Given the description of an element on the screen output the (x, y) to click on. 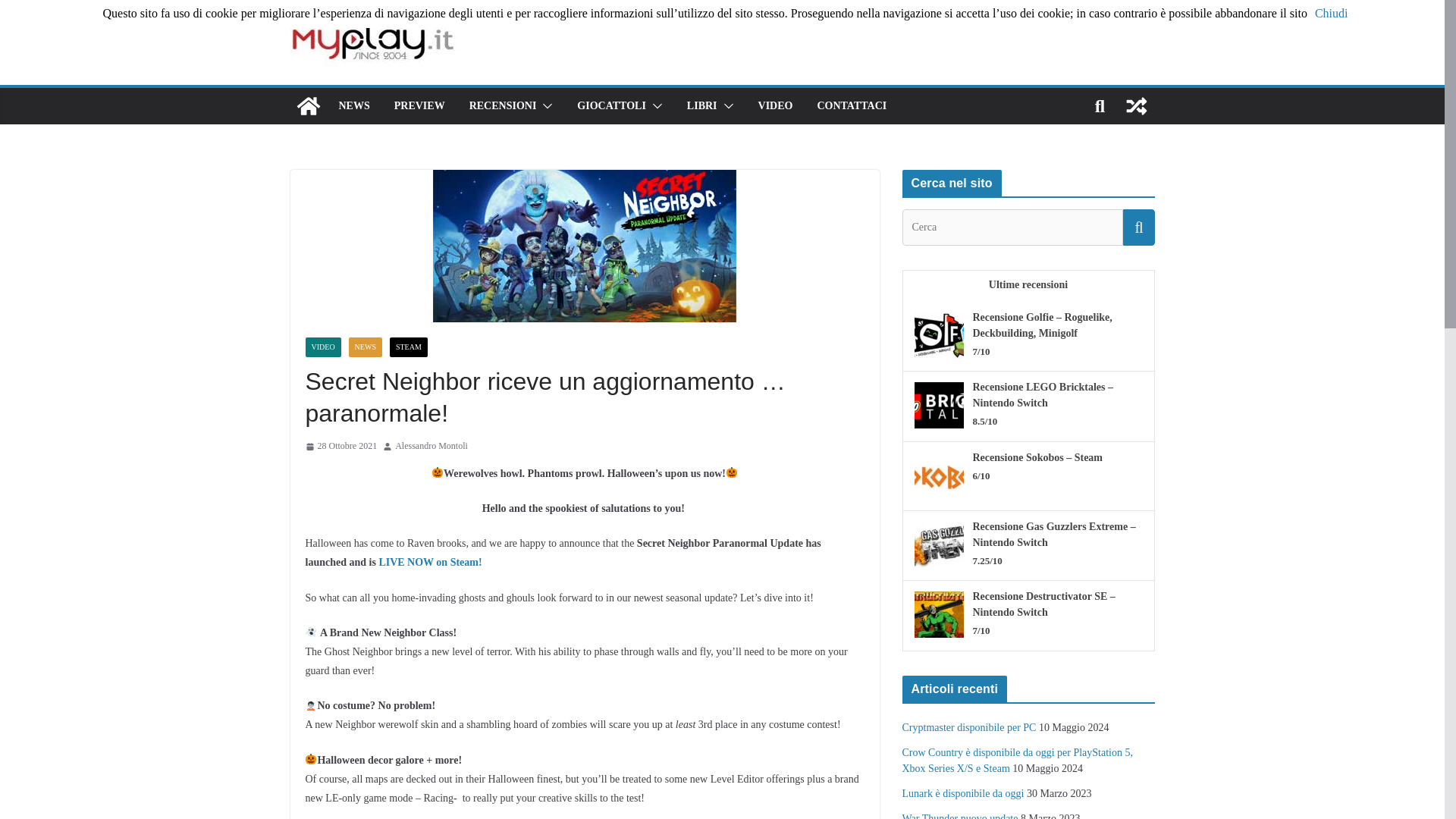
PREVIEW (419, 106)
LIBRI (702, 106)
NEWS (353, 106)
Alessandro Montoli (430, 446)
VIDEO (775, 106)
VIDEO (322, 347)
28 Ottobre 2021 (340, 446)
LIVE NOW on Steam! (429, 562)
Leggi un articolo casuale (1136, 105)
11:14 (340, 446)
Alessandro Montoli (430, 446)
GIOCATTOLI (611, 106)
STEAM (409, 347)
RECENSIONI (502, 106)
CONTATTACI (851, 106)
